Given the description of an element on the screen output the (x, y) to click on. 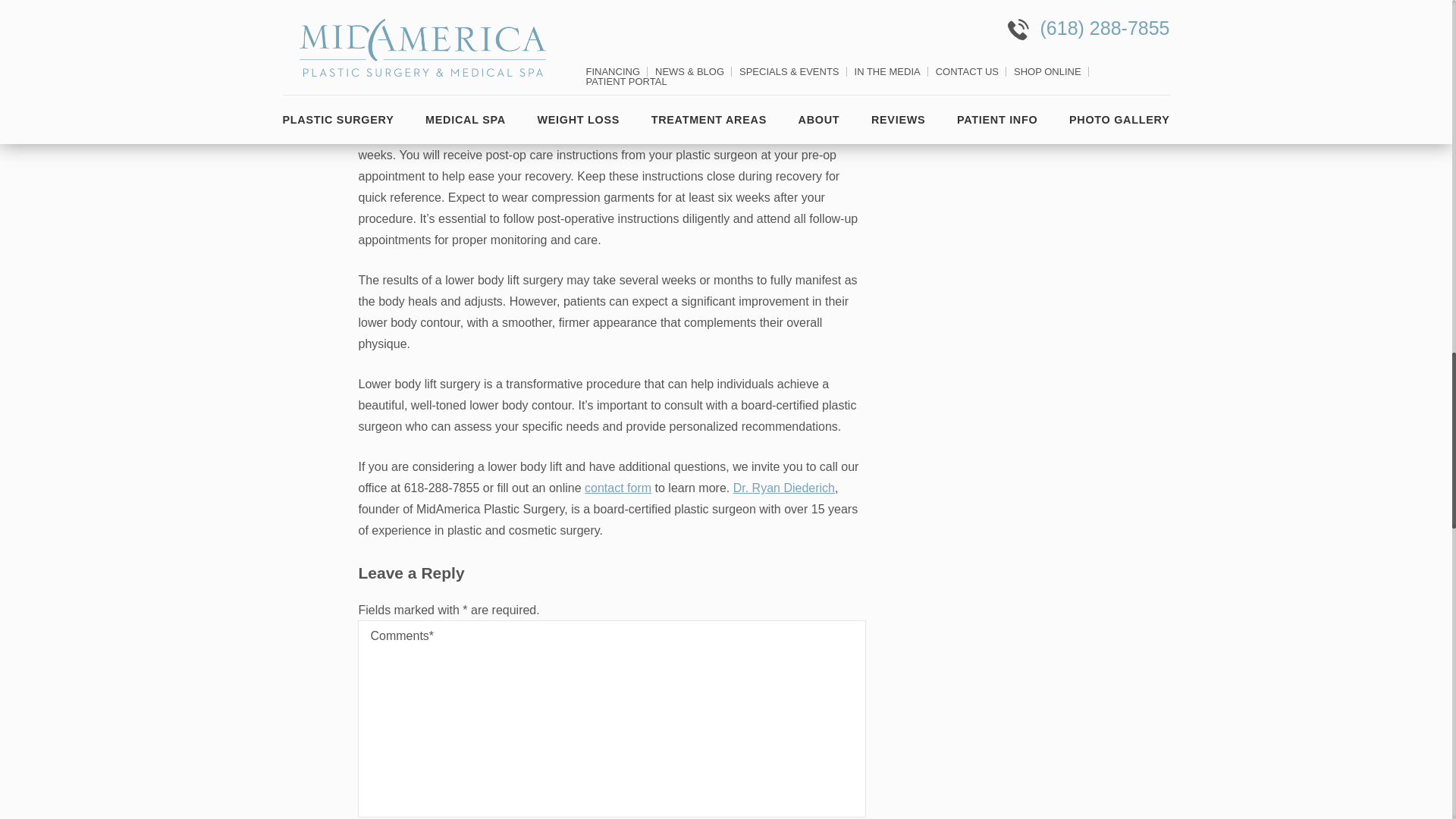
contact form (617, 487)
